Given the description of an element on the screen output the (x, y) to click on. 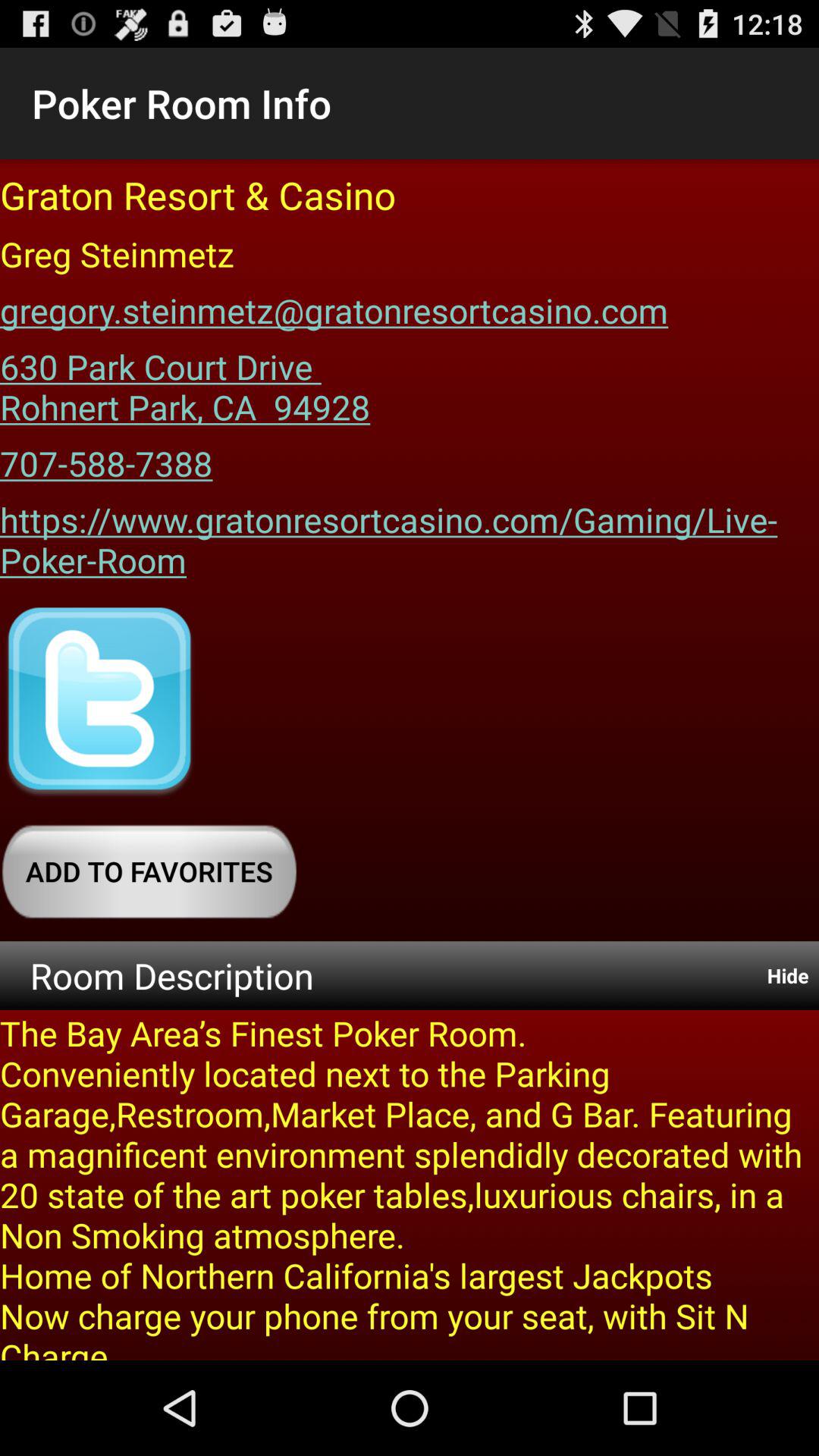
turn off item below the https www gratonresortcasino item (99, 701)
